Given the description of an element on the screen output the (x, y) to click on. 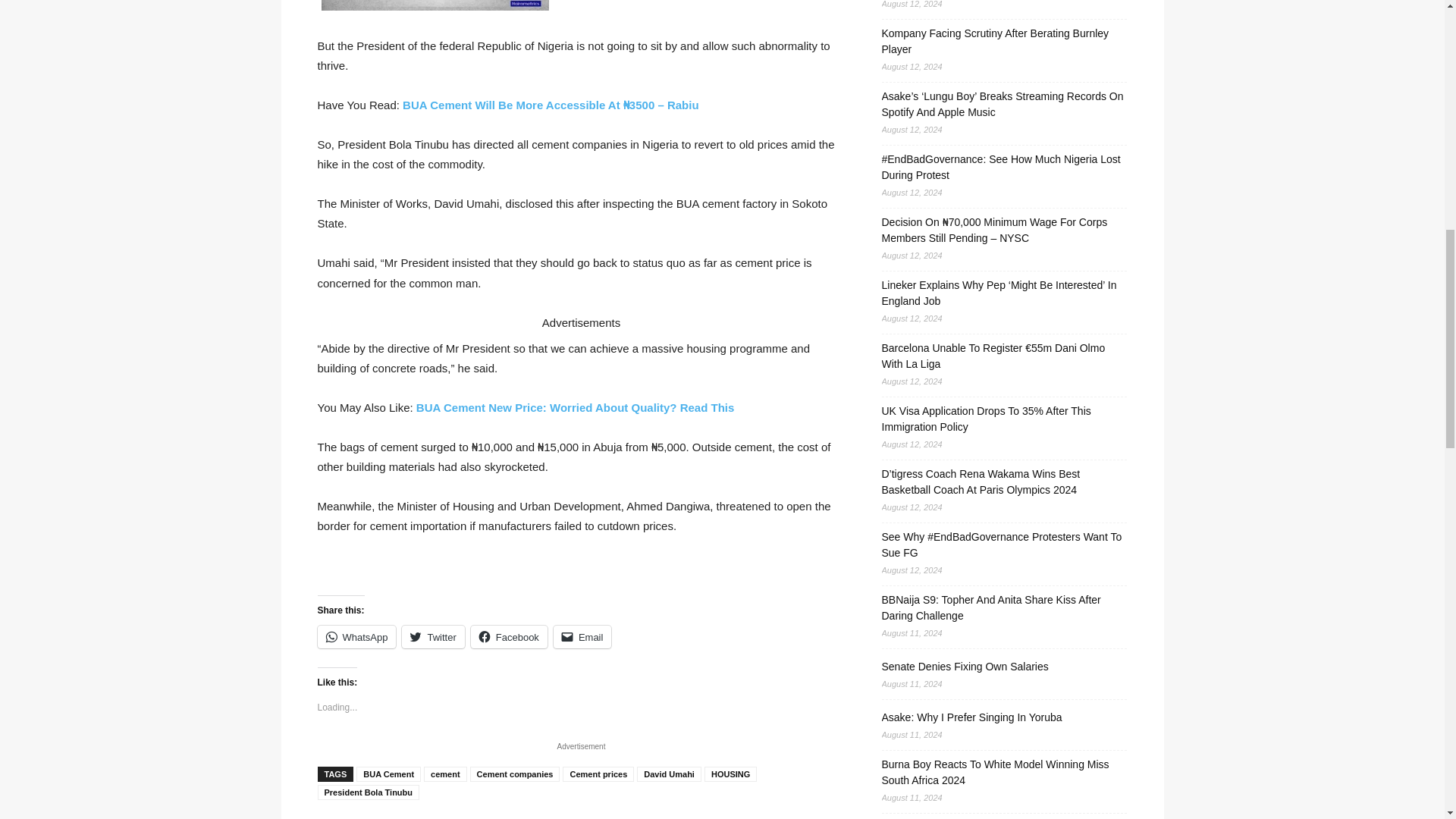
Click to share on WhatsApp (356, 636)
Click to email a link to a friend (582, 636)
BUA Cement New Price: Worried About Quality? Read This (575, 407)
Click to share on Twitter (432, 636)
Click to share on Facebook (508, 636)
